Given the description of an element on the screen output the (x, y) to click on. 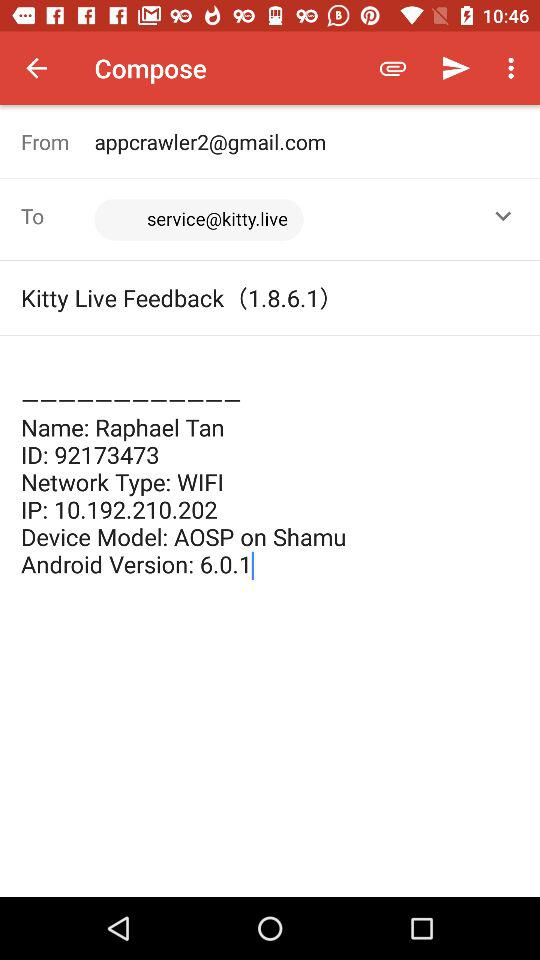
press item to the left of compose (36, 68)
